Given the description of an element on the screen output the (x, y) to click on. 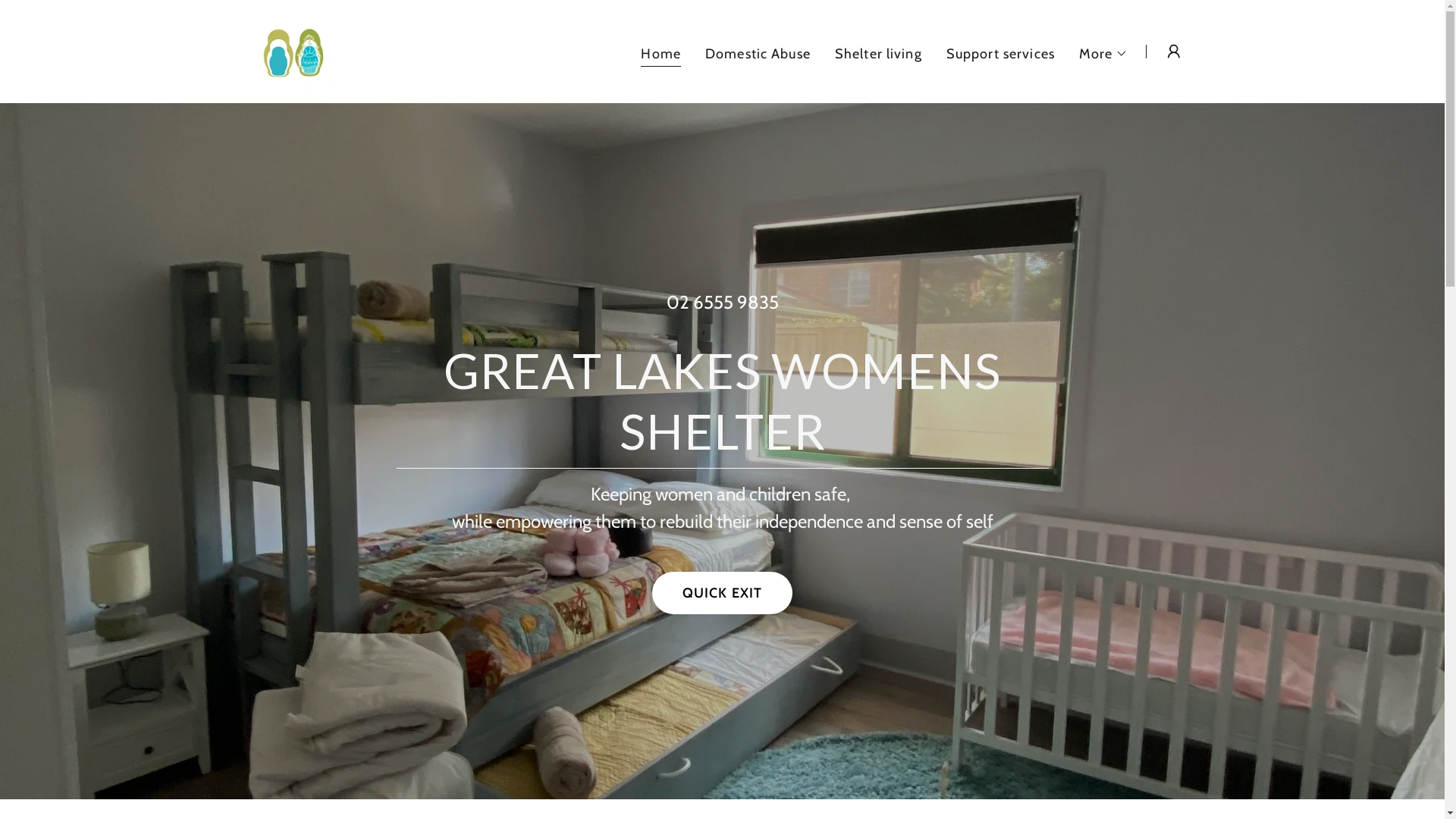
02 6555 9835 Element type: text (721, 302)
QUICK EXIT Element type: text (722, 592)
More Element type: text (1103, 52)
Domestic Abuse Element type: text (757, 52)
Shelter living Element type: text (878, 52)
Home Element type: text (660, 54)
Support services Element type: text (1000, 52)
Great Lakes Womens Shelter Element type: hover (293, 49)
